Given the description of an element on the screen output the (x, y) to click on. 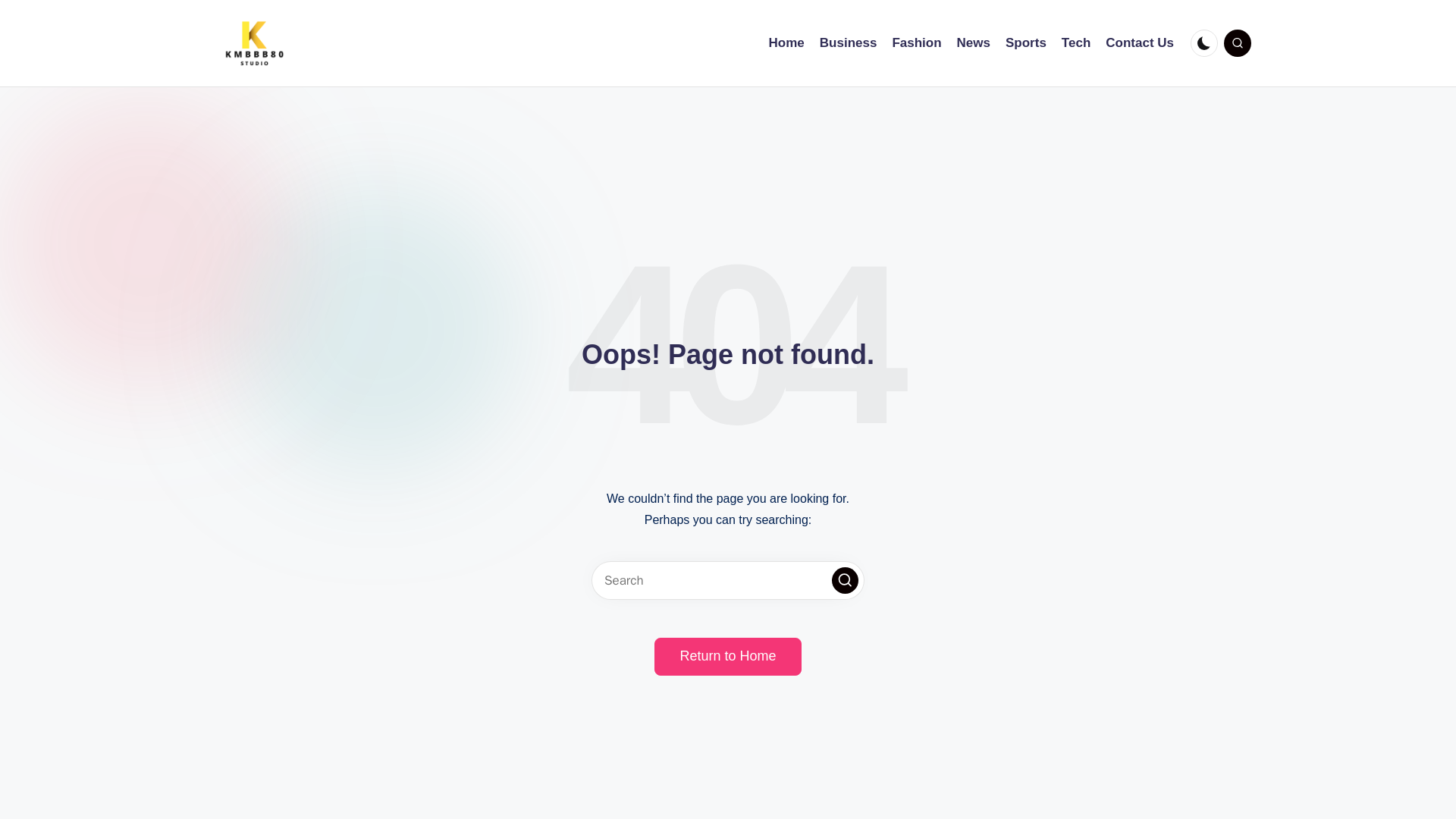
Sports (1026, 42)
Return to Home (726, 656)
Tech (1075, 42)
Contact Us (1139, 42)
News (973, 42)
Fashion (915, 42)
Business (848, 42)
Home (786, 42)
